Given the description of an element on the screen output the (x, y) to click on. 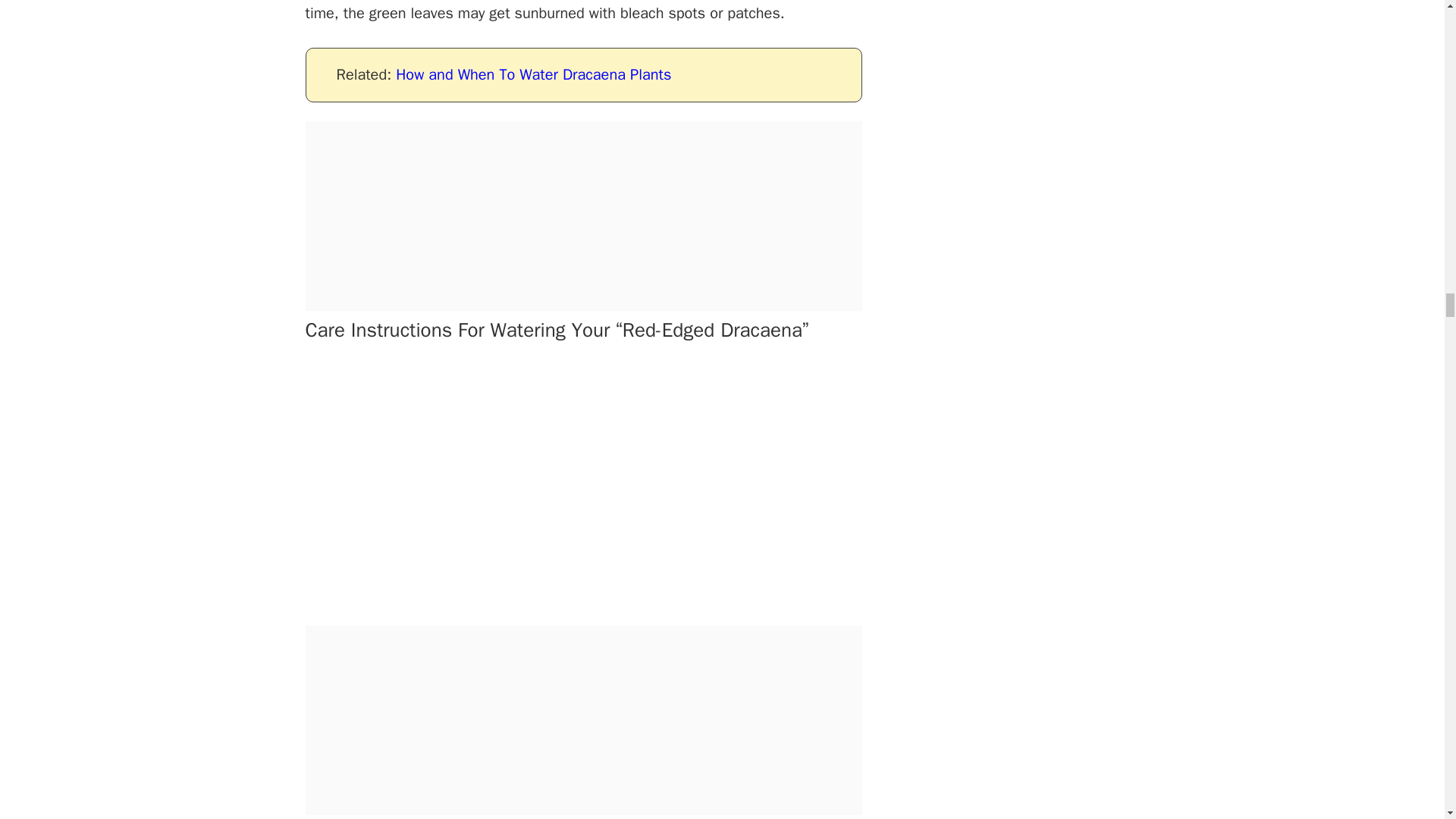
How and When To Water Dracaena Plants (533, 74)
